Given the description of an element on the screen output the (x, y) to click on. 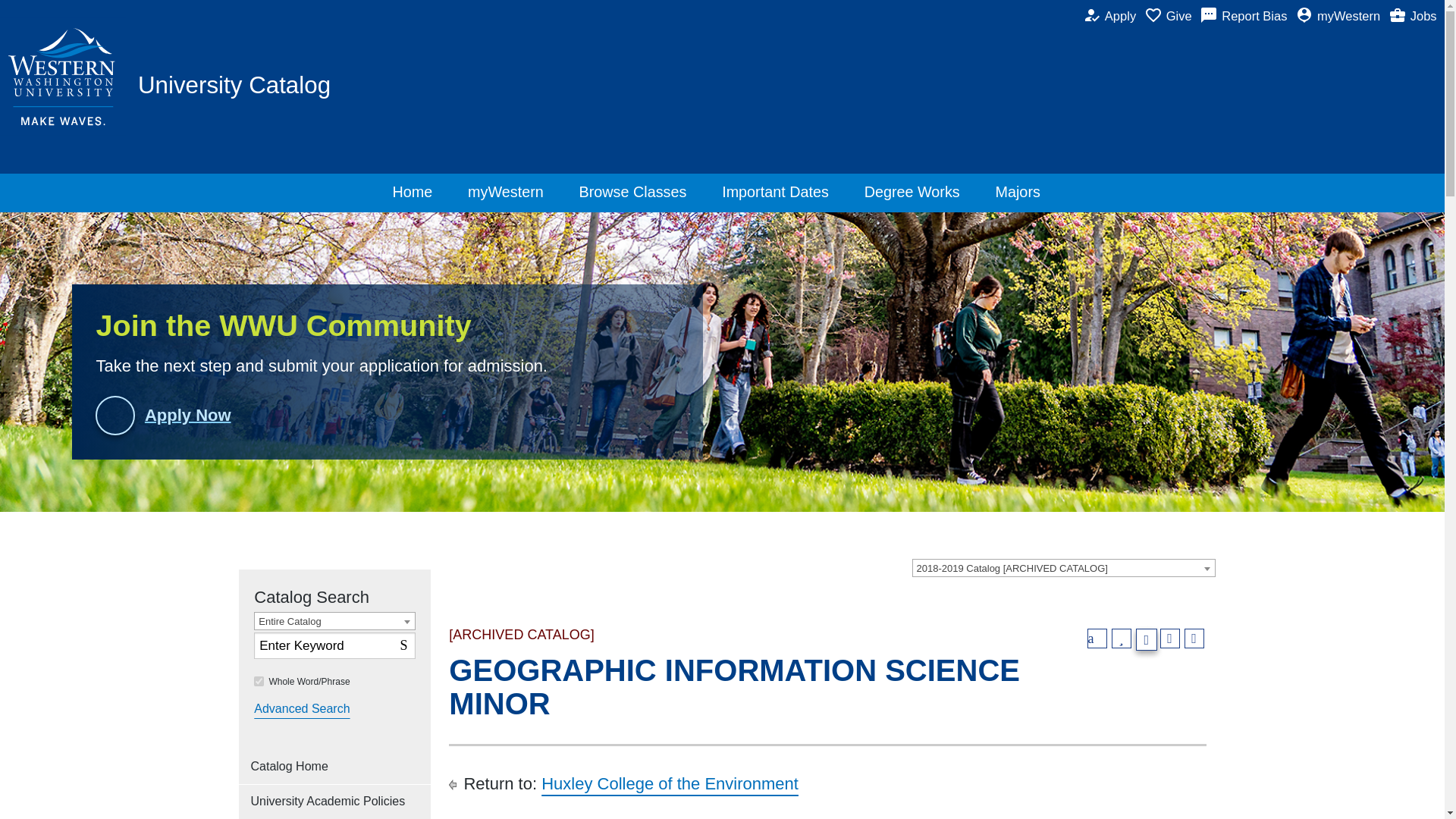
Report Bias (1247, 16)
Give (1171, 16)
Apply (1113, 16)
Degree Works (917, 192)
Advanced Search (301, 709)
Western Logo (63, 76)
Search Keyword Field, required (333, 645)
Select a Catalog (923, 567)
Important Dates (405, 643)
